Given the description of an element on the screen output the (x, y) to click on. 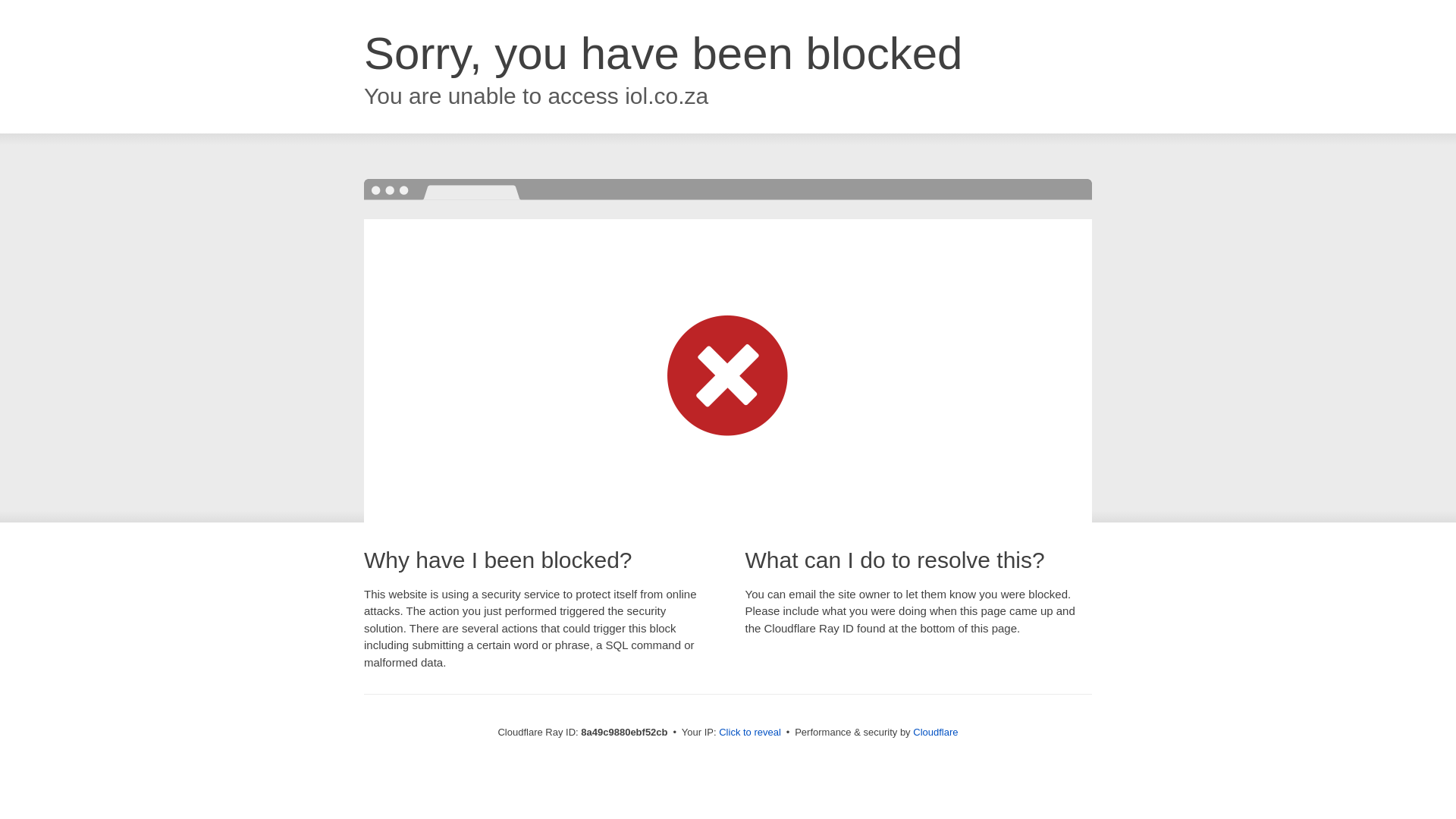
Cloudflare (935, 731)
Click to reveal (749, 732)
